Given the description of an element on the screen output the (x, y) to click on. 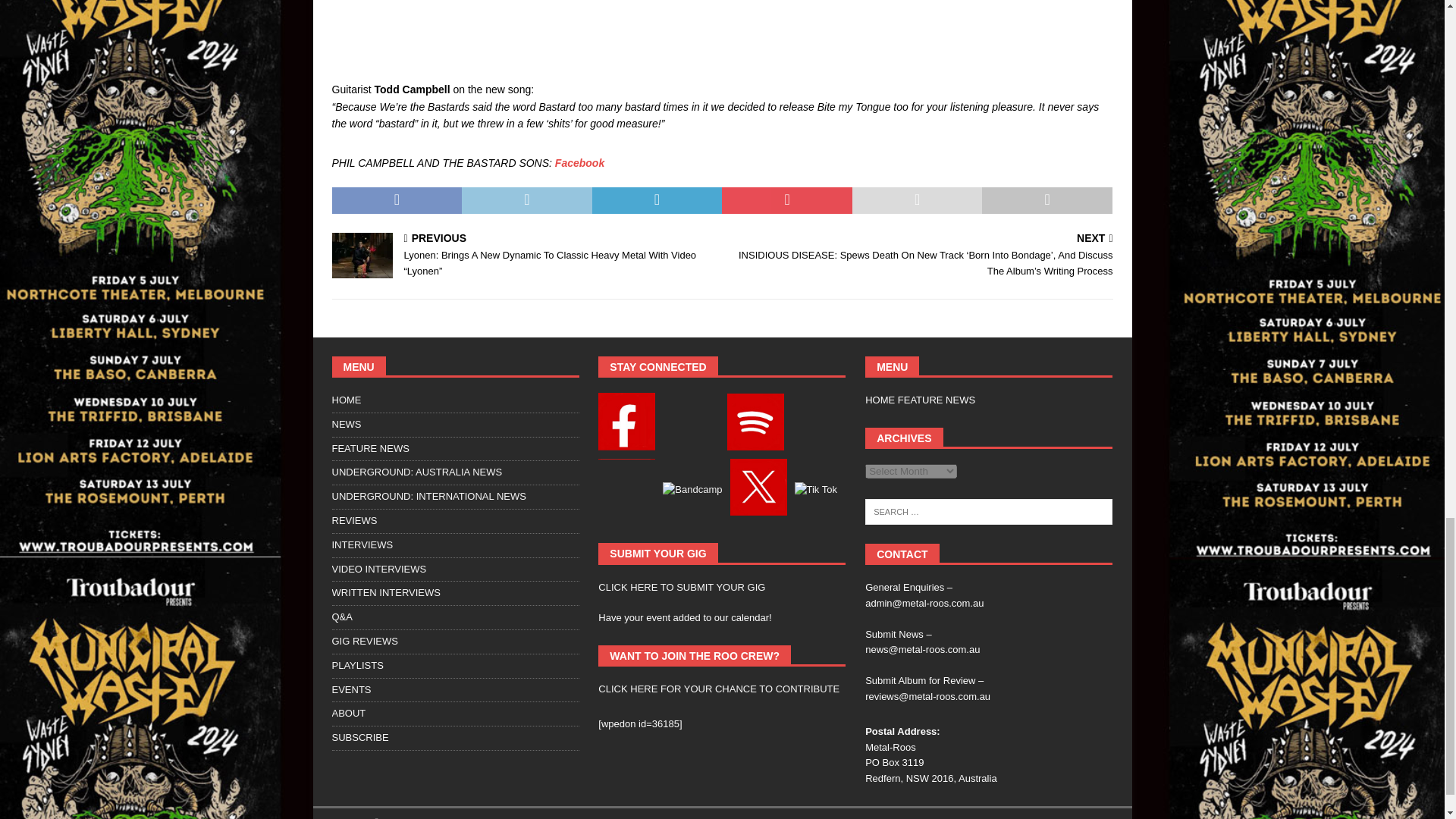
 Spotify (755, 424)
 Facebook (626, 424)
 X (757, 489)
 Youtube (626, 489)
 Instagram (690, 424)
 Bandcamp (692, 489)
